Given the description of an element on the screen output the (x, y) to click on. 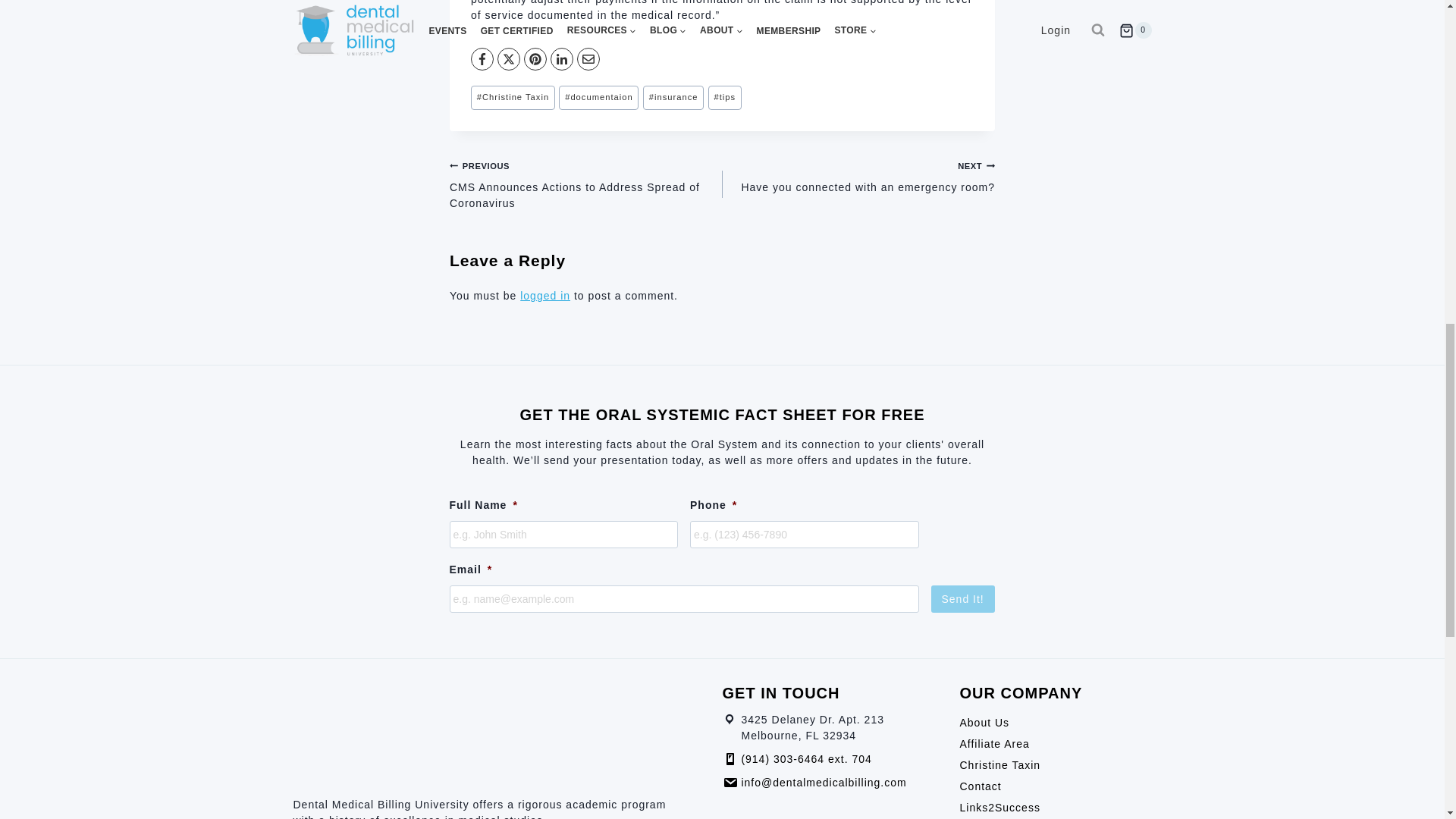
Send It! (962, 598)
insurance (673, 97)
tips (724, 97)
documentaion (599, 97)
Christine Taxin (512, 97)
